Given the description of an element on the screen output the (x, y) to click on. 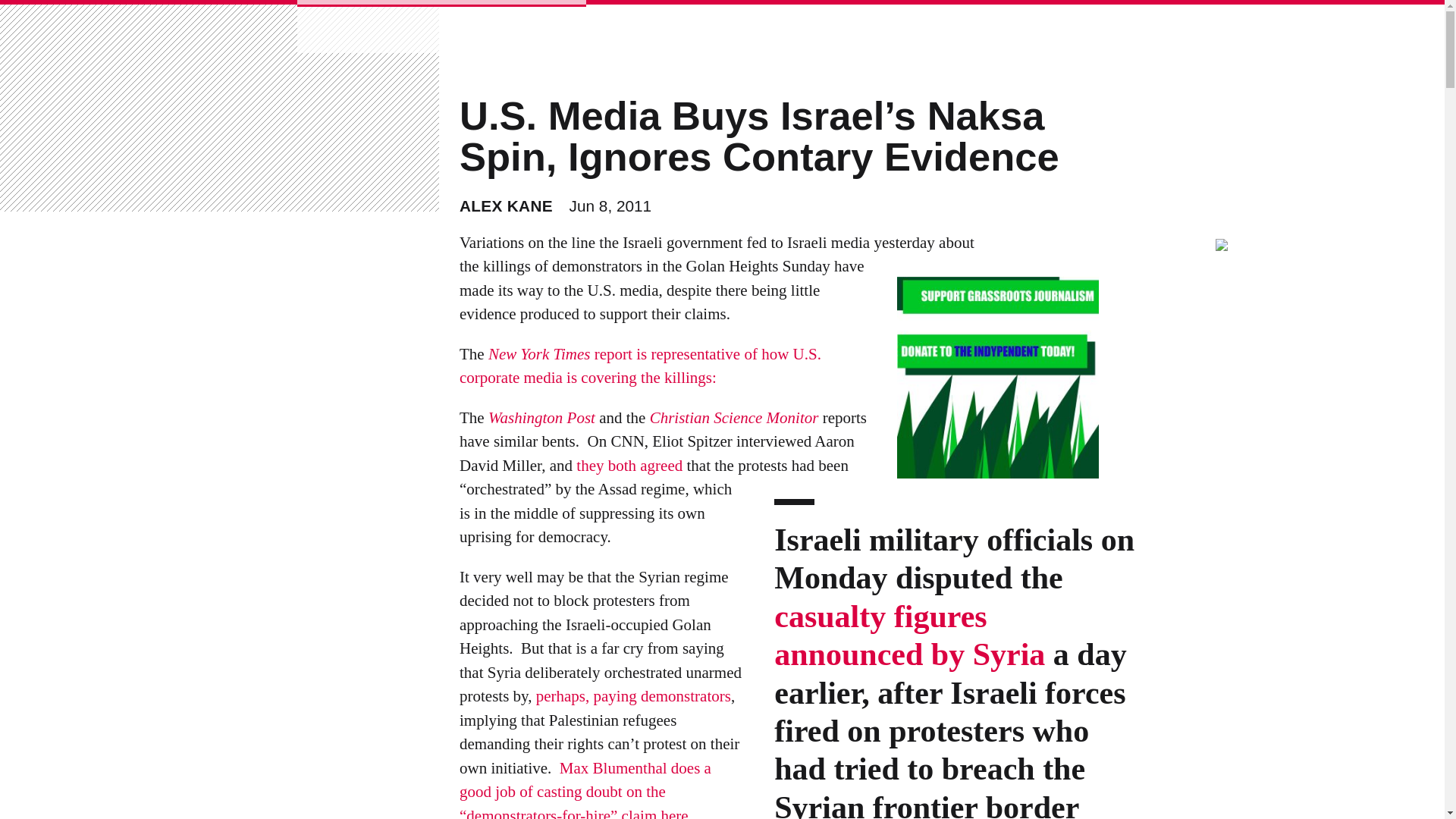
Christian Science Monitor (733, 418)
casualty figures announced by Syria (909, 636)
Times article (909, 636)
they both agreed (629, 465)
Menu (262, 29)
Search (52, 21)
Washington Post (541, 418)
ALEX KANE (506, 205)
perhaps, paying demonstrators (632, 696)
